Given the description of an element on the screen output the (x, y) to click on. 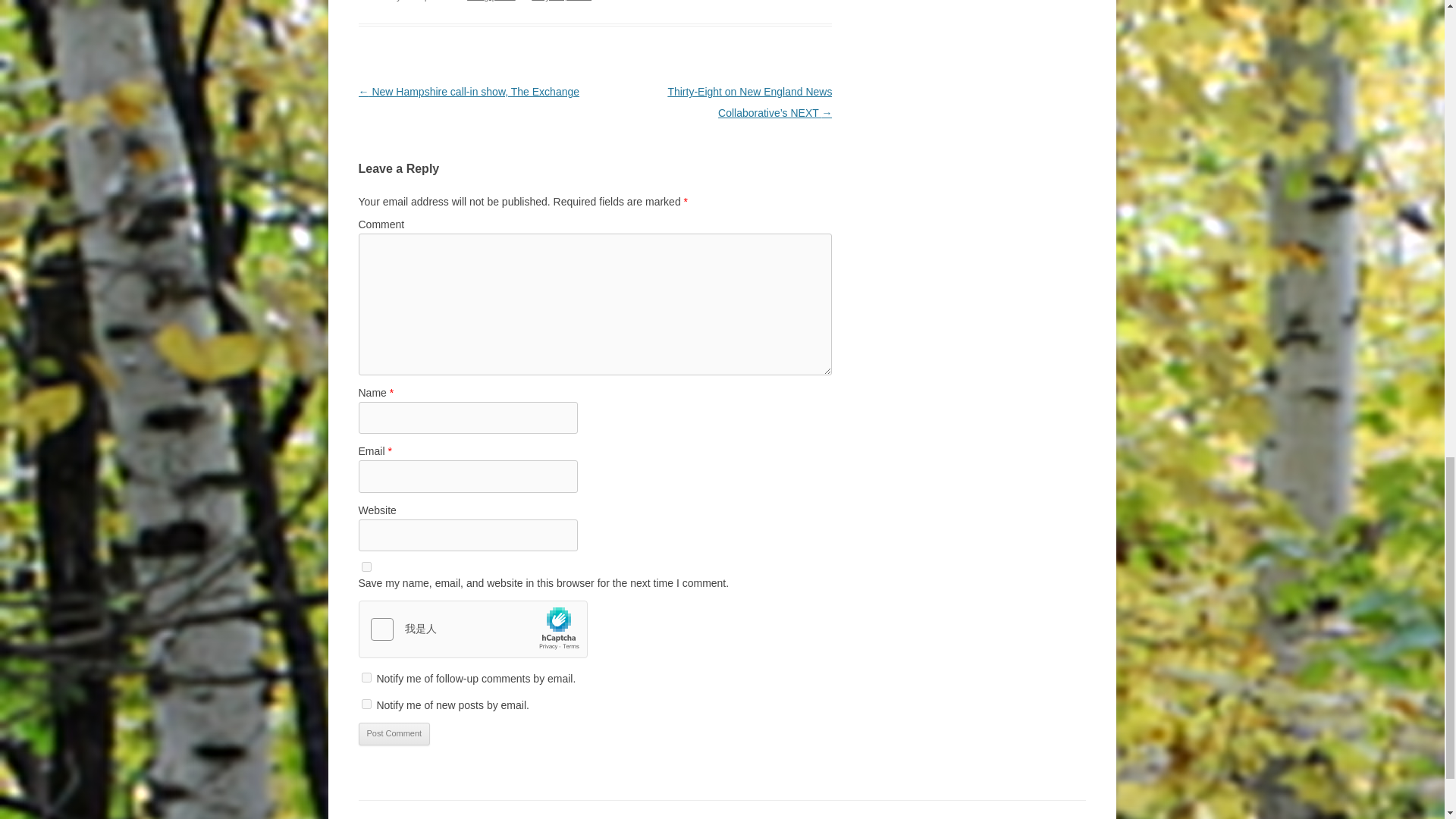
yes (366, 566)
1:17 pm (561, 0)
subscribe (366, 677)
May 23, 2016 (561, 0)
Post Comment (393, 733)
Widget containing checkbox for hCaptcha security challenge (473, 630)
Long posts (491, 0)
Post Comment (393, 733)
subscribe (366, 704)
